Given the description of an element on the screen output the (x, y) to click on. 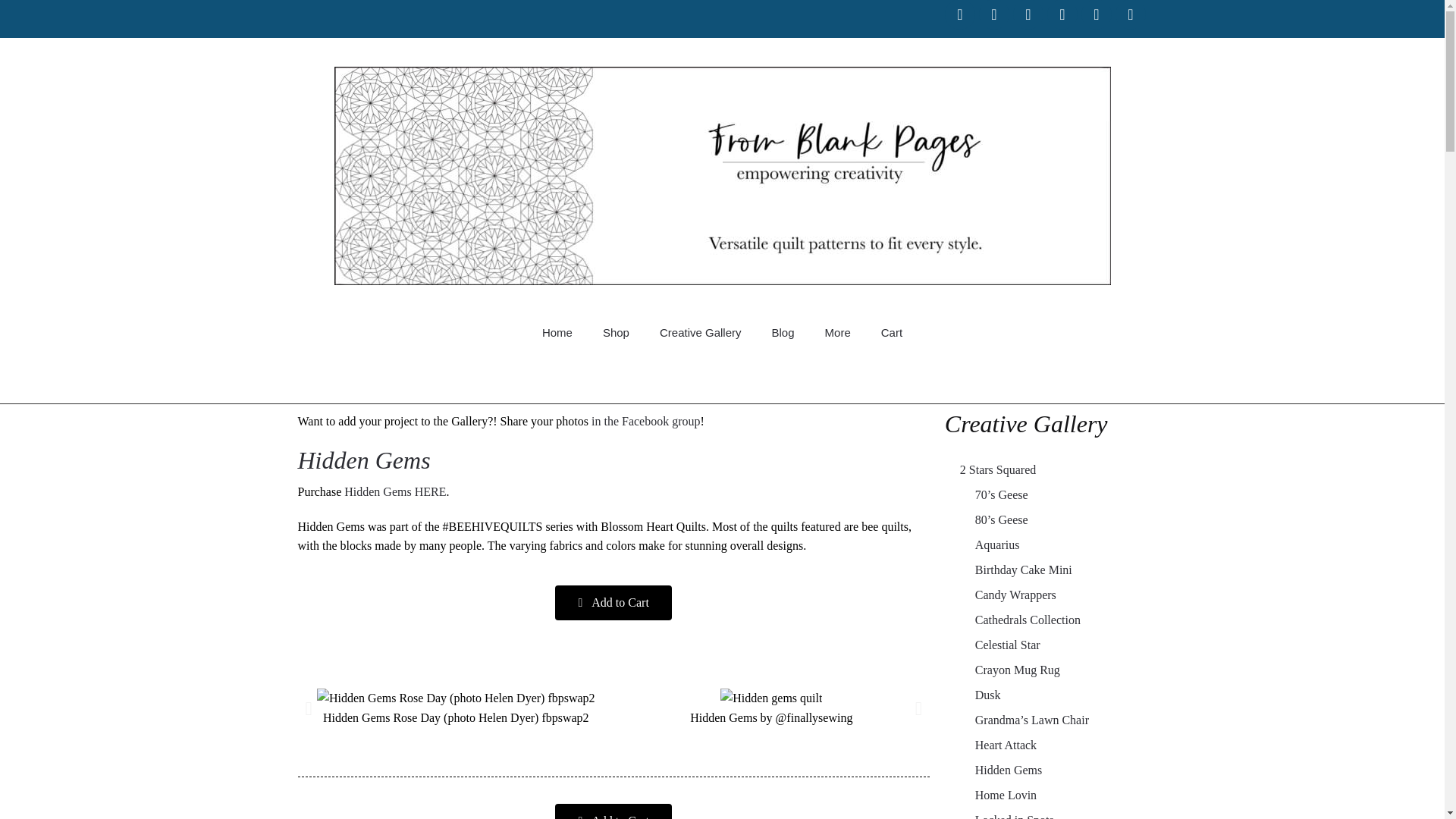
Home (557, 332)
Creative Gallery (701, 332)
Shop (616, 332)
More (837, 332)
Blog (783, 332)
Cart (891, 332)
